Given the description of an element on the screen output the (x, y) to click on. 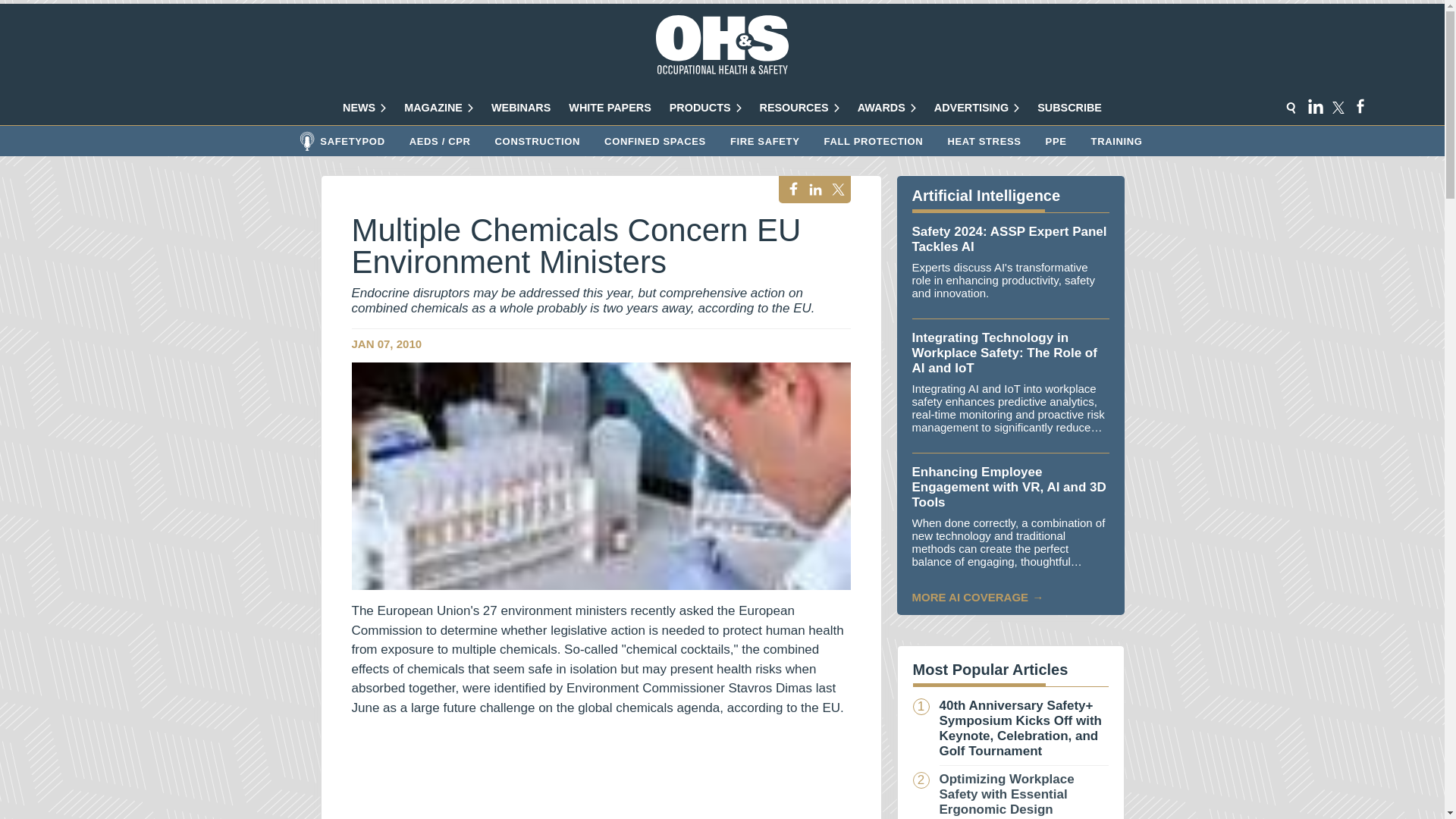
WEBINARS (521, 108)
AWARDS (886, 108)
NEWS (363, 108)
RESOURCES (800, 108)
PRODUCTS (705, 108)
WHITE PAPERS (609, 108)
MAGAZINE (438, 108)
